Given the description of an element on the screen output the (x, y) to click on. 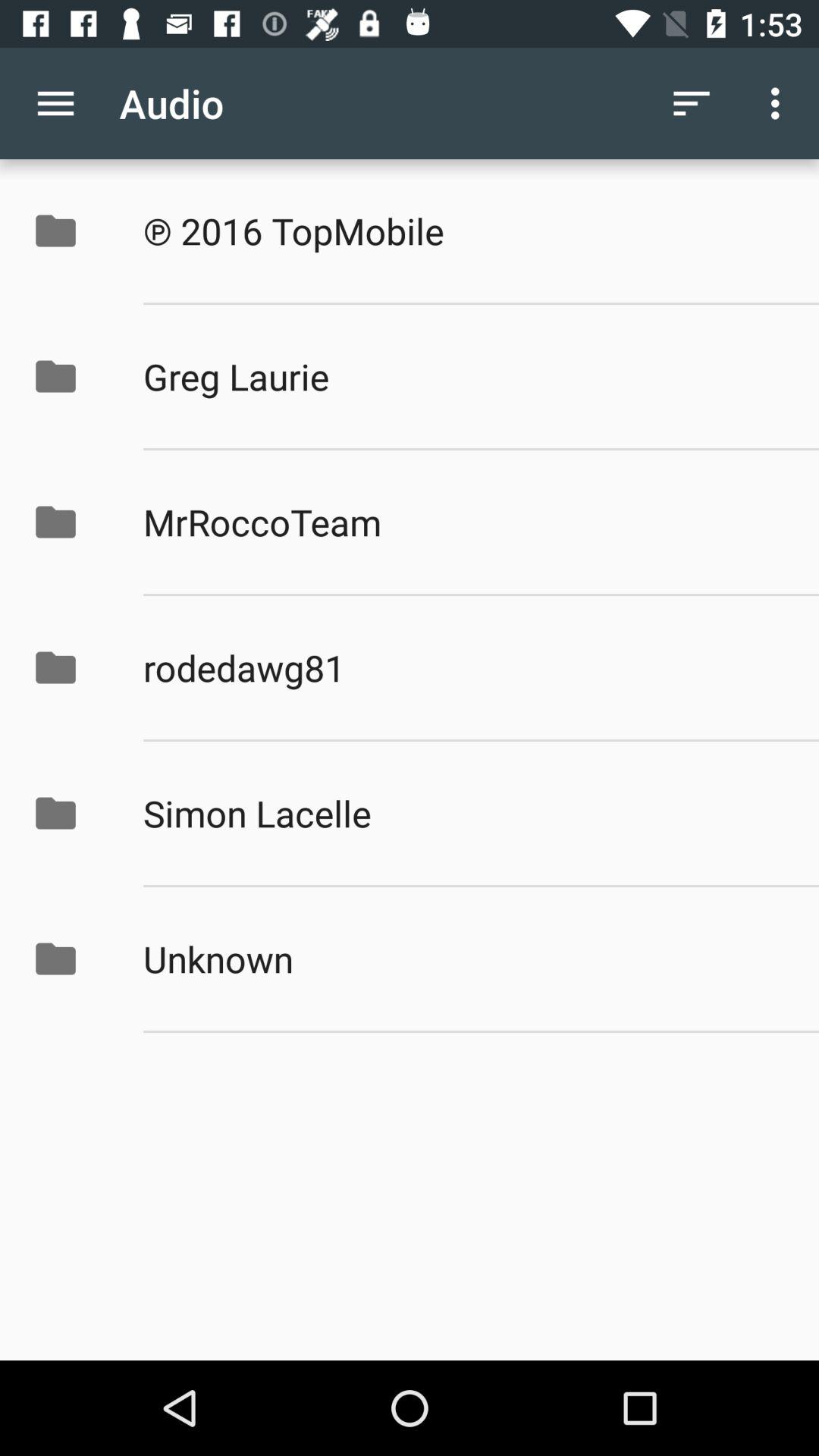
turn off icon next to audio app (691, 103)
